Given the description of an element on the screen output the (x, y) to click on. 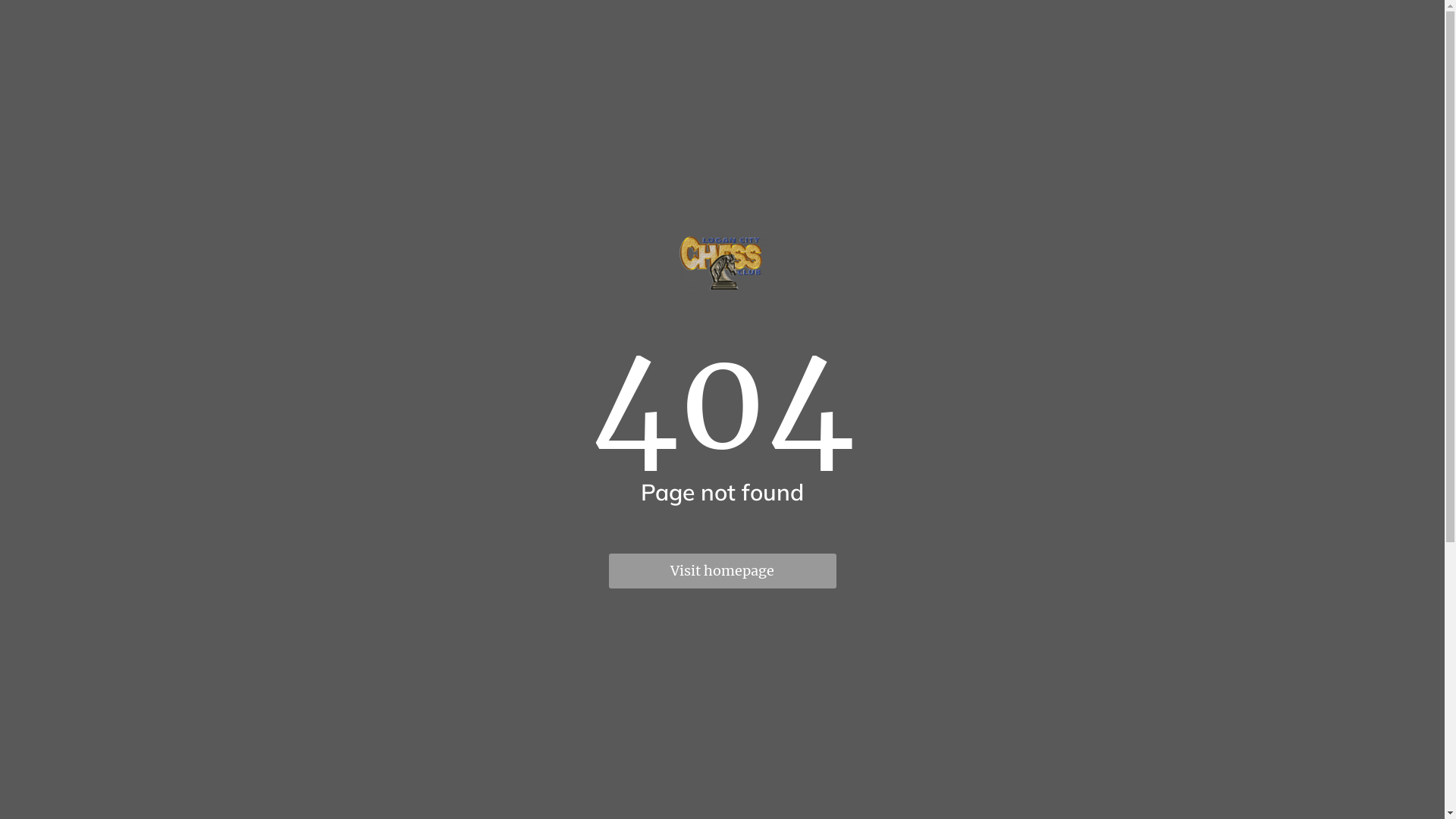
Visit homepage Element type: text (721, 570)
